Given the description of an element on the screen output the (x, y) to click on. 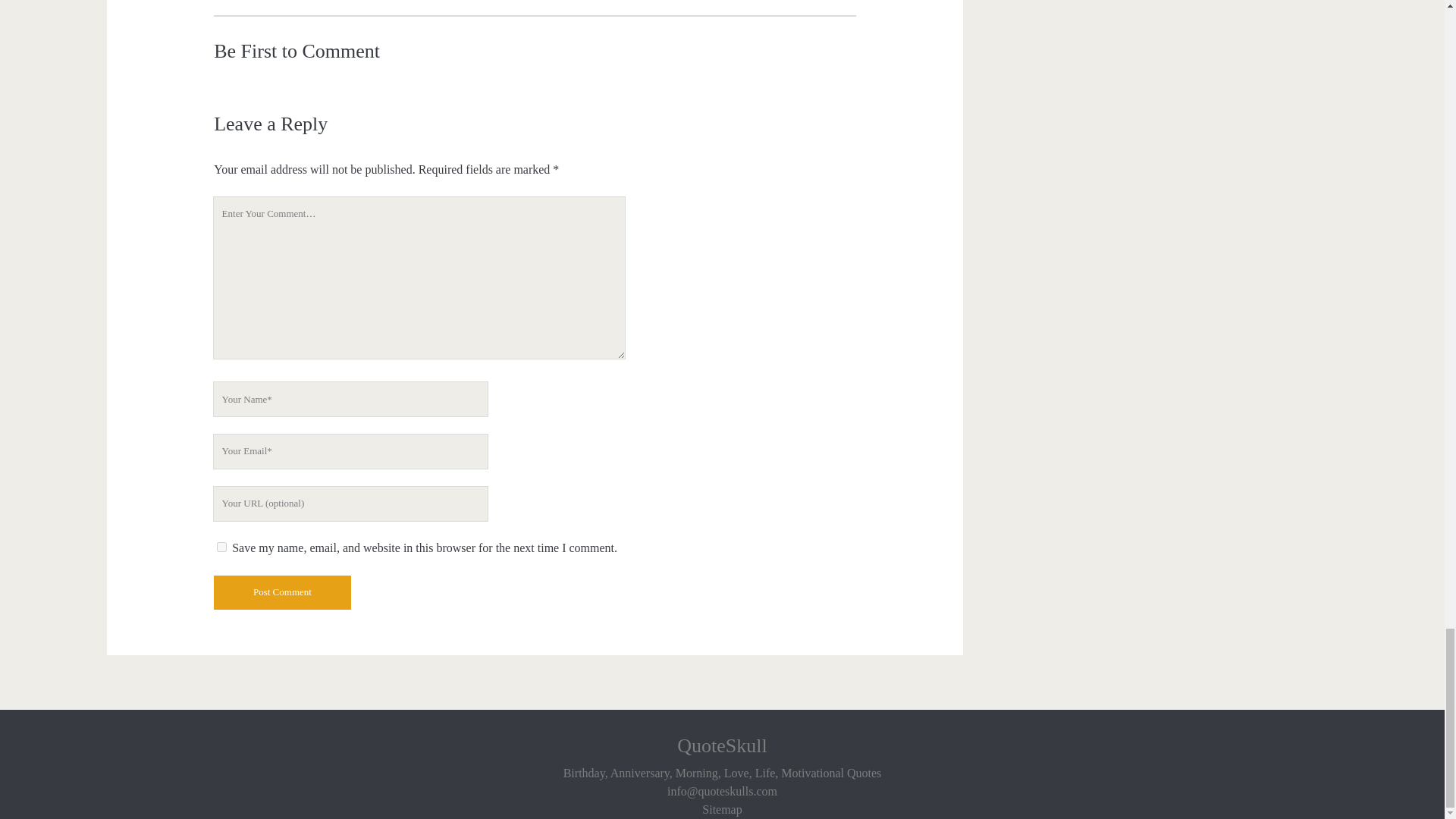
Post Comment (282, 592)
yes (221, 547)
Post Comment (282, 592)
